Given the description of an element on the screen output the (x, y) to click on. 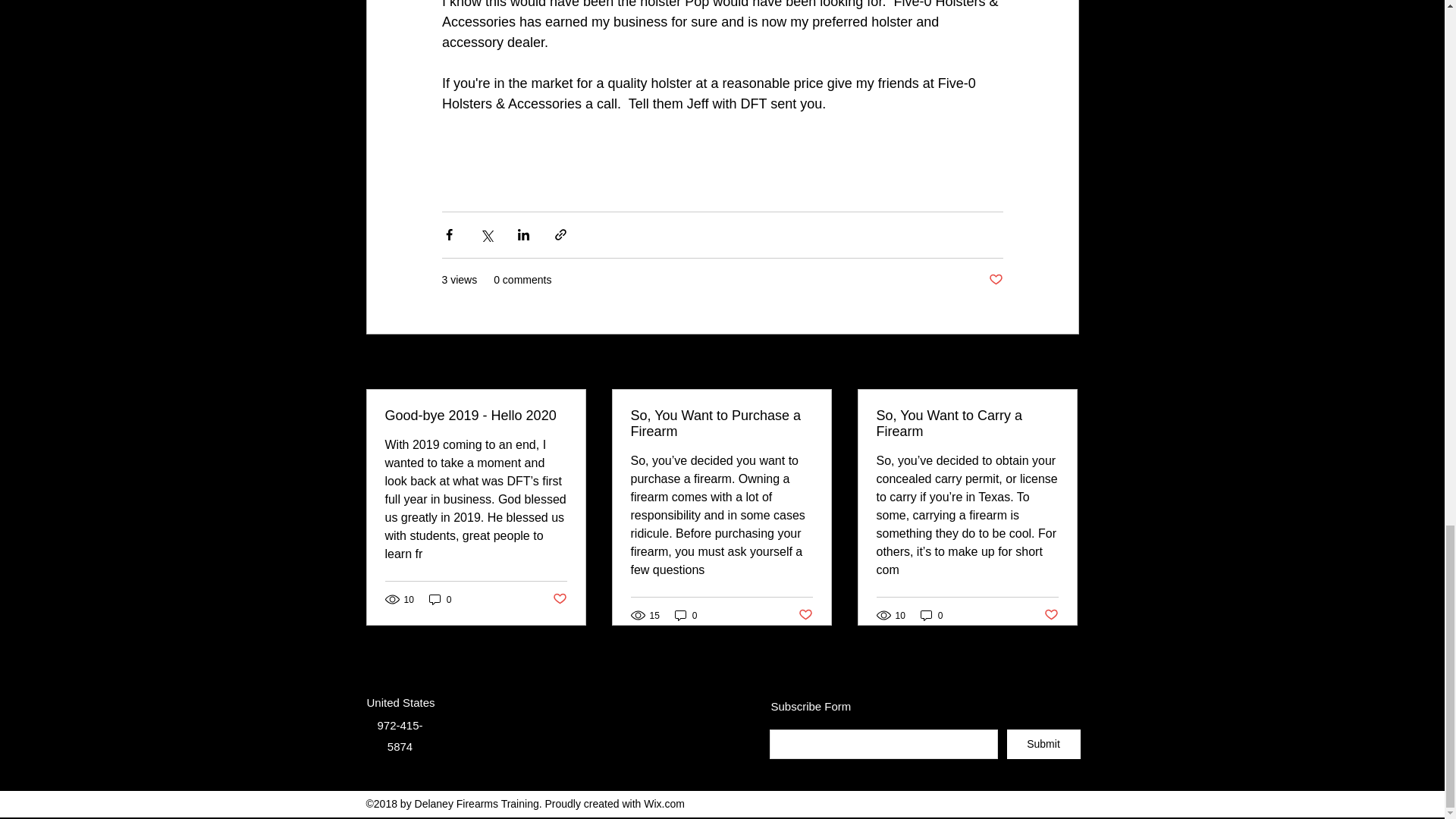
0 (685, 615)
Post not marked as liked (995, 279)
Post not marked as liked (804, 615)
Good-bye 2019 - Hello 2020 (476, 415)
So, You Want to Carry a Firearm (967, 423)
Submit (1043, 744)
0 (931, 615)
See All (1061, 362)
Post not marked as liked (558, 599)
Post not marked as liked (1050, 615)
0 (440, 599)
So, You Want to Purchase a Firearm (721, 423)
